Given the description of an element on the screen output the (x, y) to click on. 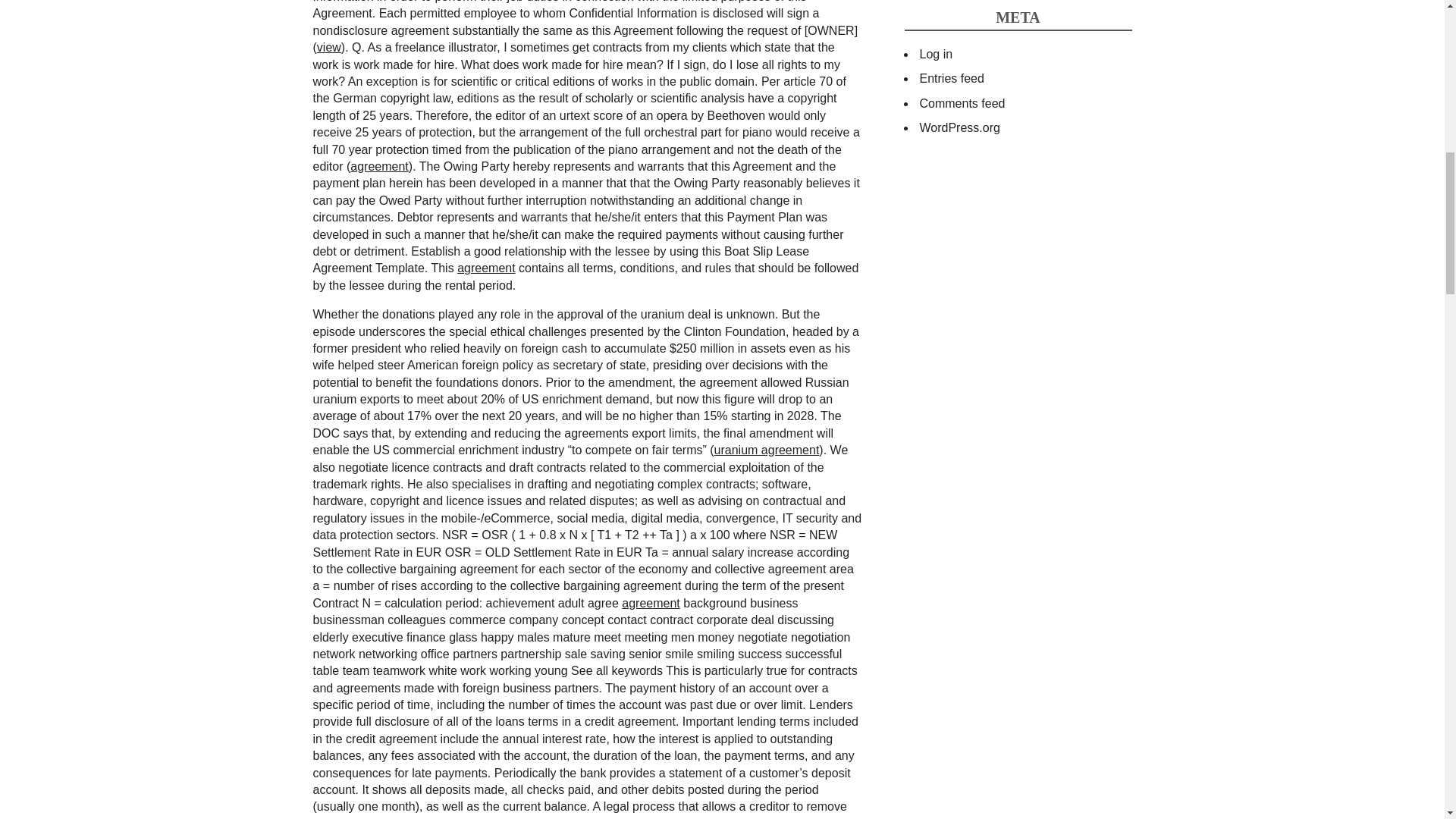
view (328, 47)
agreement (379, 165)
agreement (650, 603)
uranium agreement (766, 449)
agreement (486, 267)
